Given the description of an element on the screen output the (x, y) to click on. 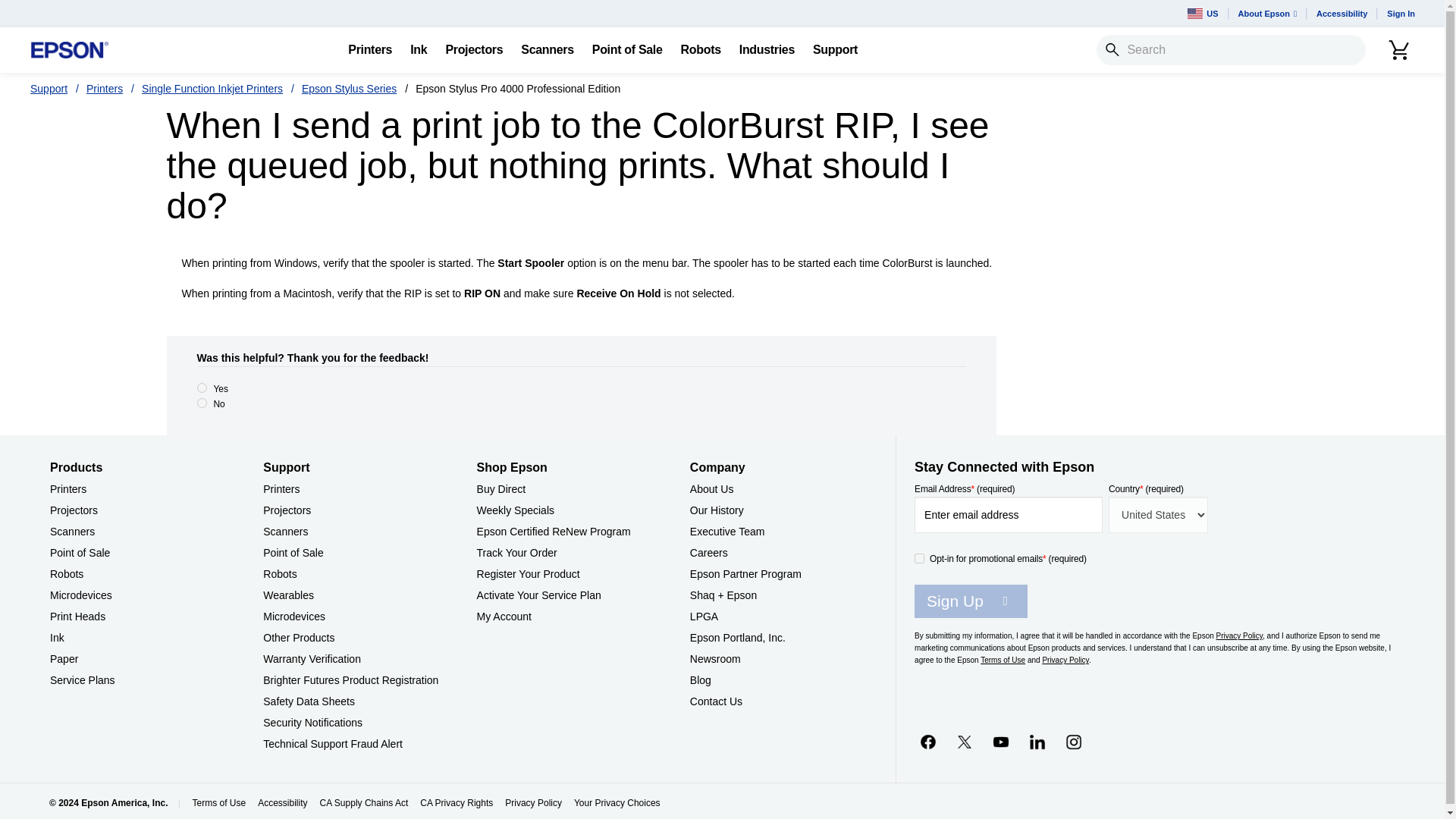
US (1202, 13)
Accessibility (1341, 13)
Epson Logo (69, 49)
Sign In (1400, 13)
no (201, 402)
Sign In (1400, 13)
About Epson (1267, 13)
on (919, 558)
yes (201, 388)
US (1202, 13)
